Given the description of an element on the screen output the (x, y) to click on. 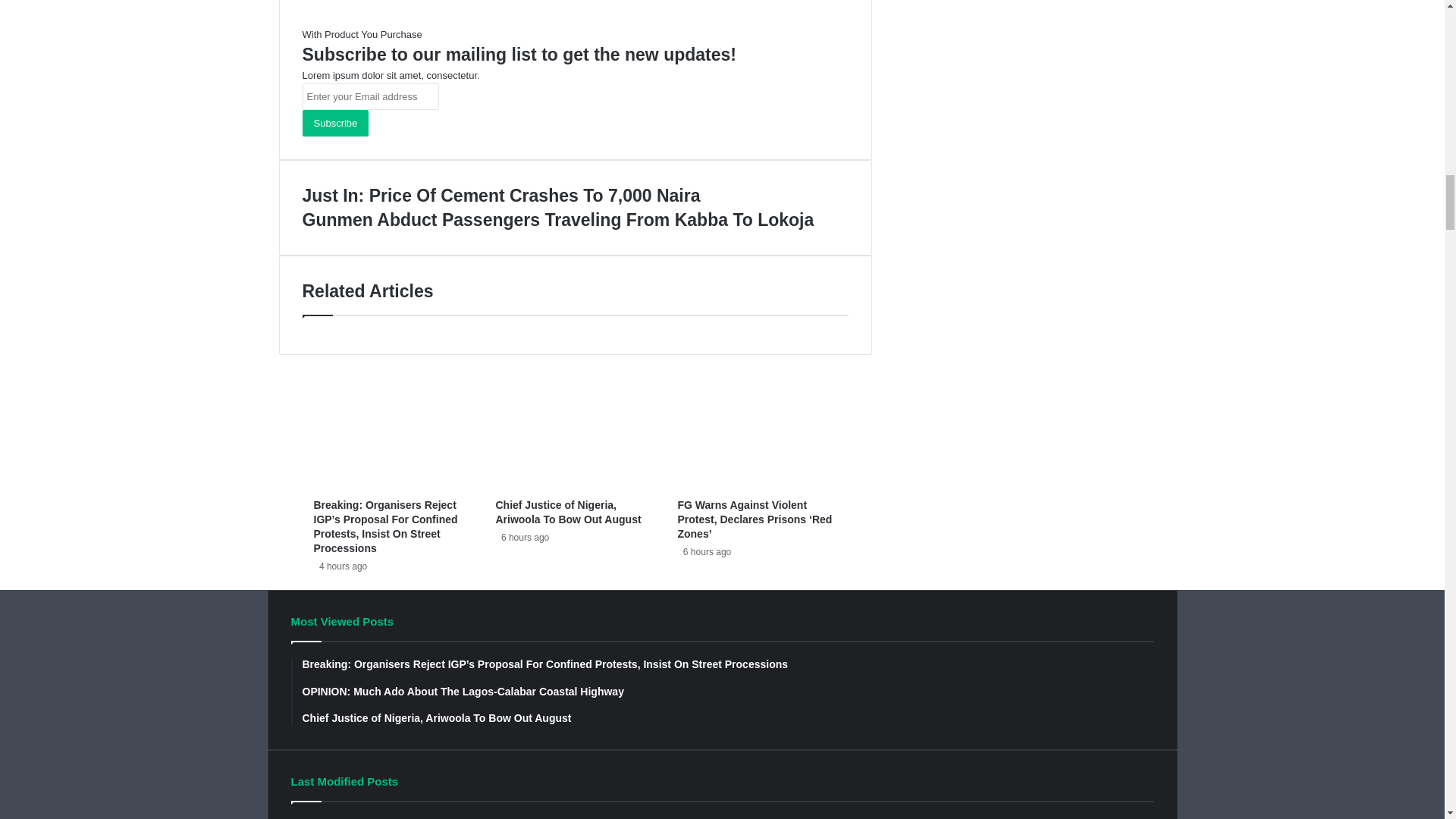
Subscribe (334, 122)
